Given the description of an element on the screen output the (x, y) to click on. 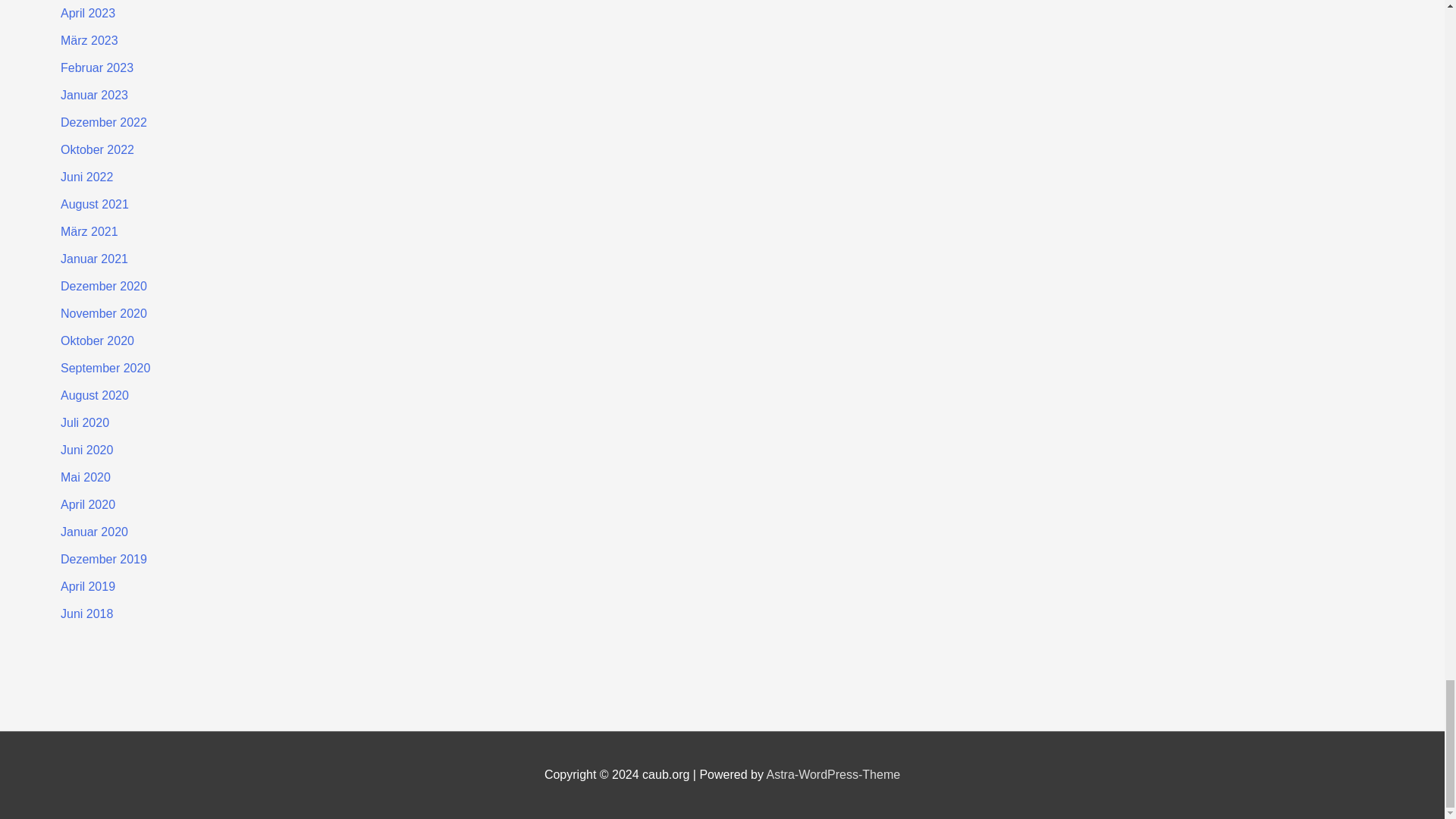
April 2023 (88, 12)
Juni 2022 (87, 176)
Januar 2023 (94, 94)
Oktober 2022 (97, 149)
Februar 2023 (97, 67)
Dezember 2022 (104, 122)
